Given the description of an element on the screen output the (x, y) to click on. 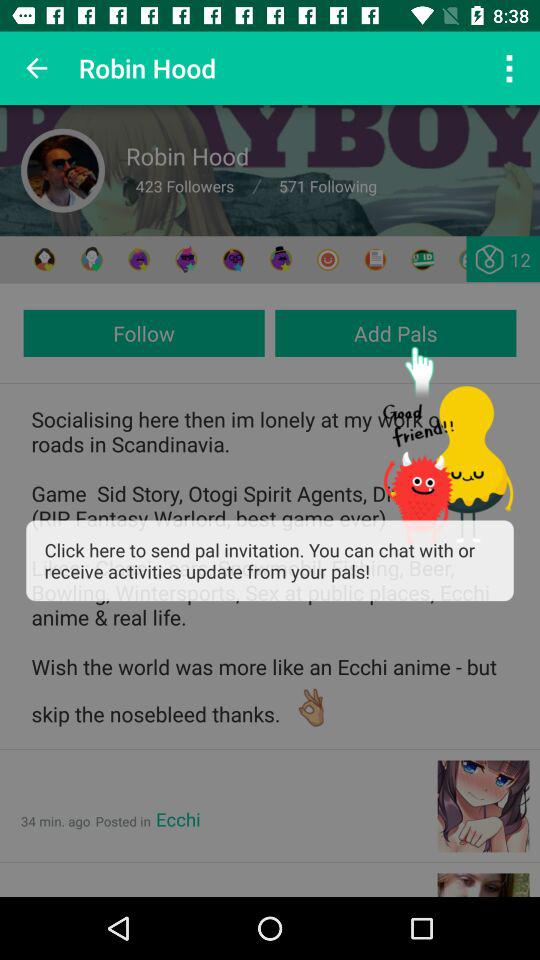
select a pal in the app (44, 259)
